Given the description of an element on the screen output the (x, y) to click on. 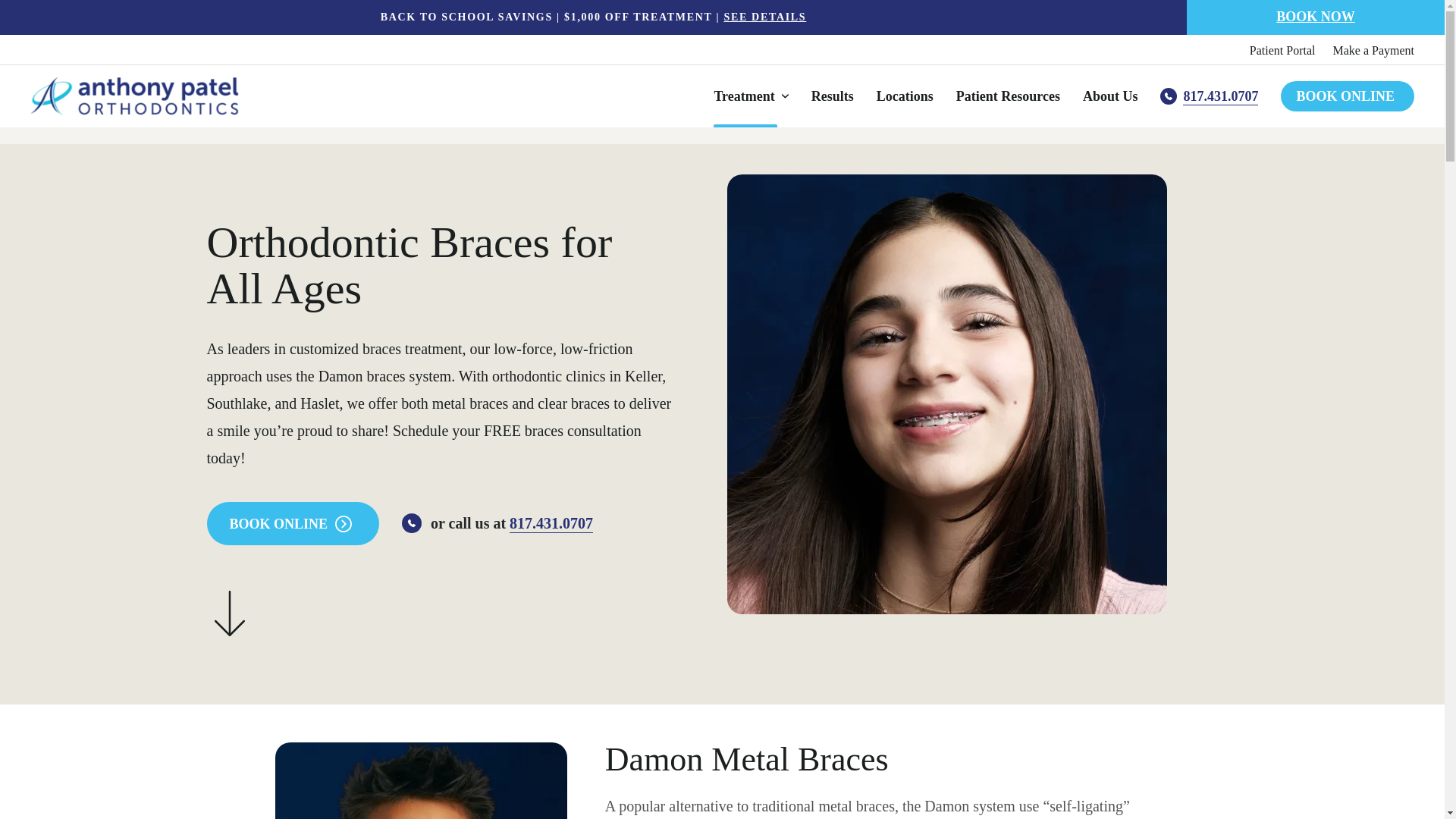
About Us (1110, 96)
BOOK NOW (1316, 17)
BOOK ONLINE (1347, 96)
Patient Portal (1282, 50)
BOOK ONLINE (292, 523)
Rising Star (467, 119)
BOOK ONLINE (292, 523)
Treatment (750, 96)
817.431.0707 (1208, 96)
Patient Resources (1007, 96)
